Given the description of an element on the screen output the (x, y) to click on. 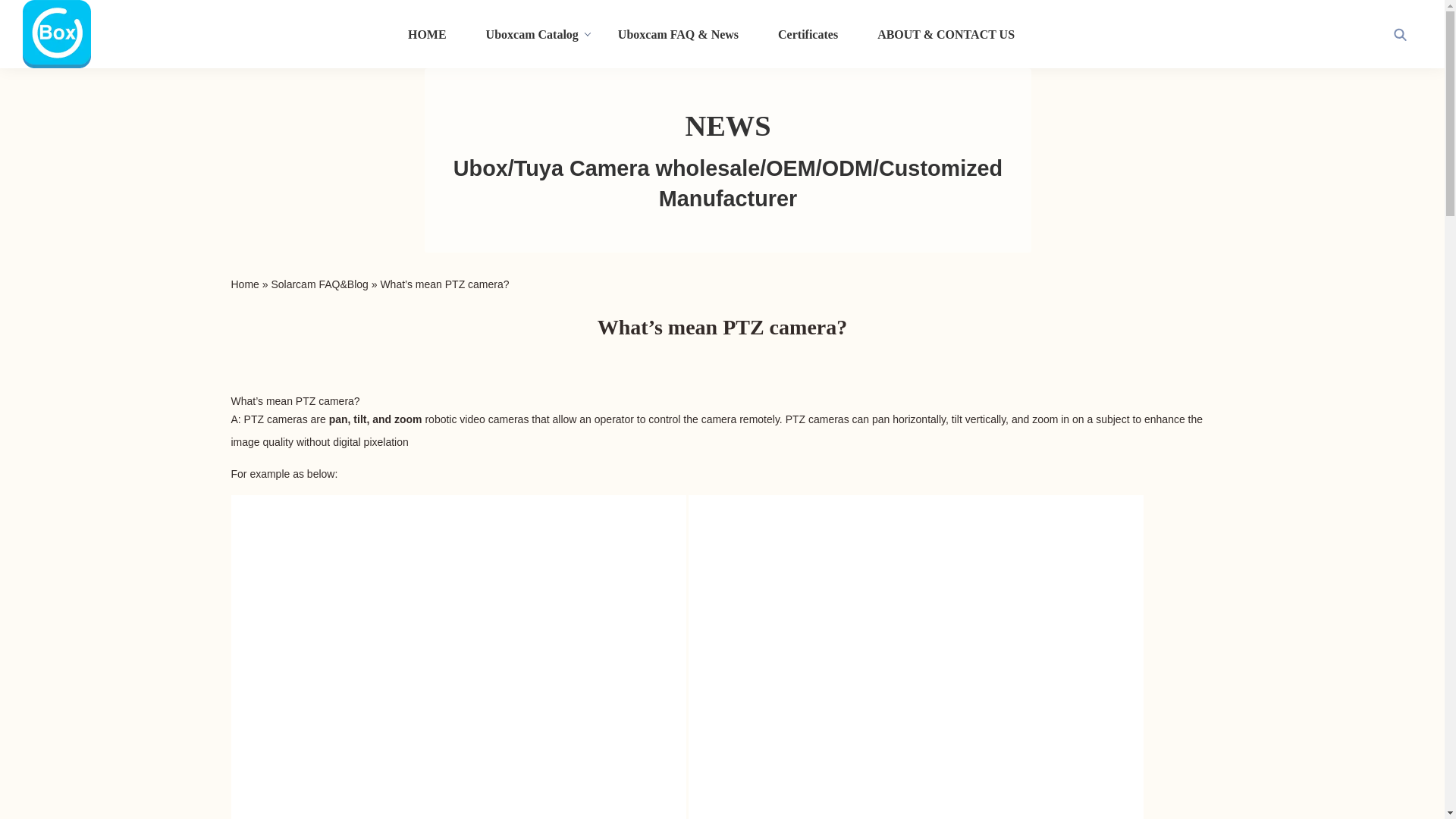
Home (244, 284)
HOME (427, 33)
Uboxcam Catalog (532, 33)
Certificates (807, 33)
